Given the description of an element on the screen output the (x, y) to click on. 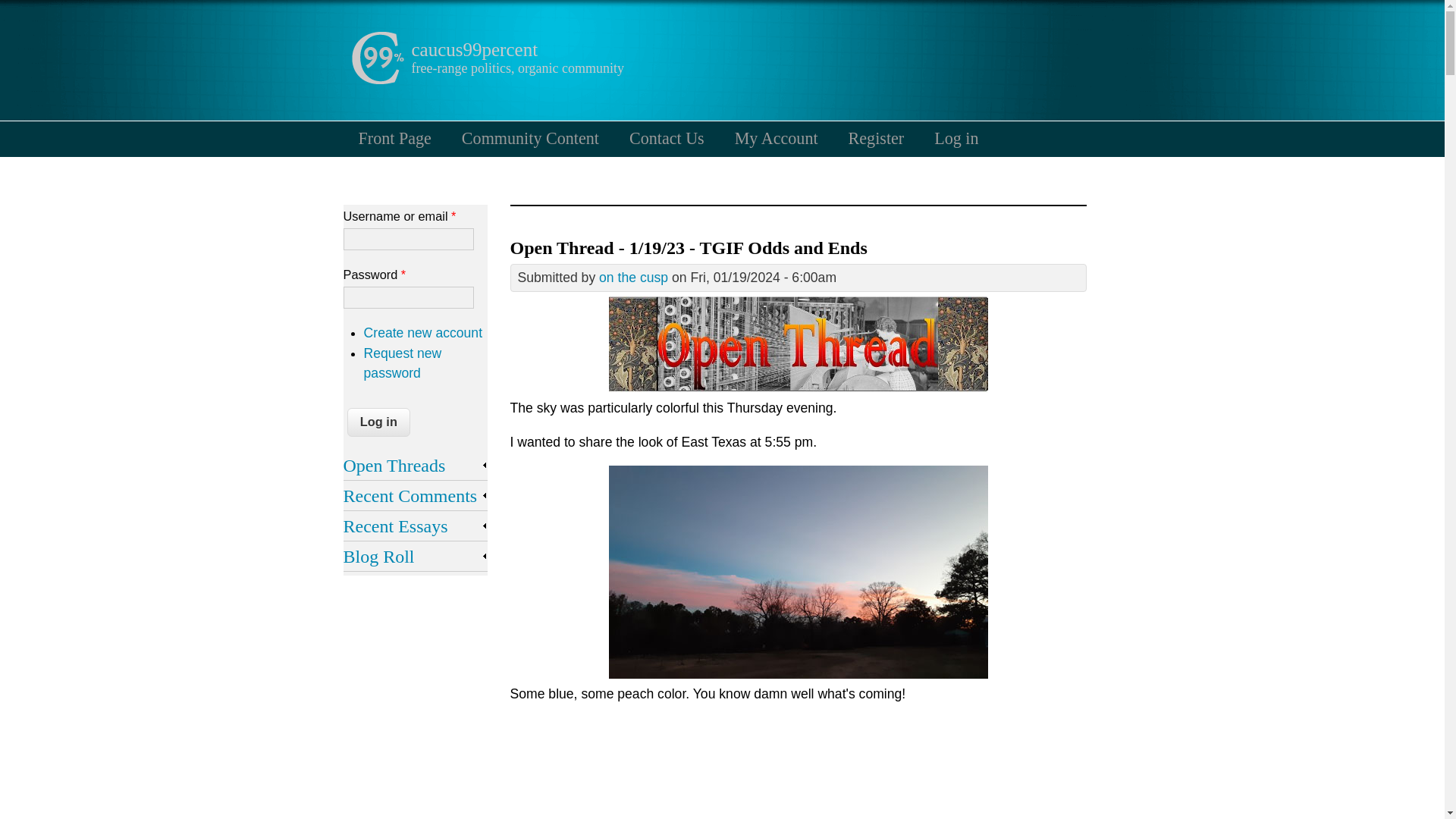
Community Content (530, 138)
Log in (955, 138)
caucus99percent (473, 49)
Front Page Featured Editorials (393, 138)
My personal user account (775, 138)
Home (473, 49)
View user profile. (633, 277)
Contact the Administrator (666, 138)
Contact Us (666, 138)
My Account (775, 138)
Home (376, 79)
Front Page (393, 138)
Register (876, 138)
Log in (378, 421)
on the cusp (633, 277)
